Given the description of an element on the screen output the (x, y) to click on. 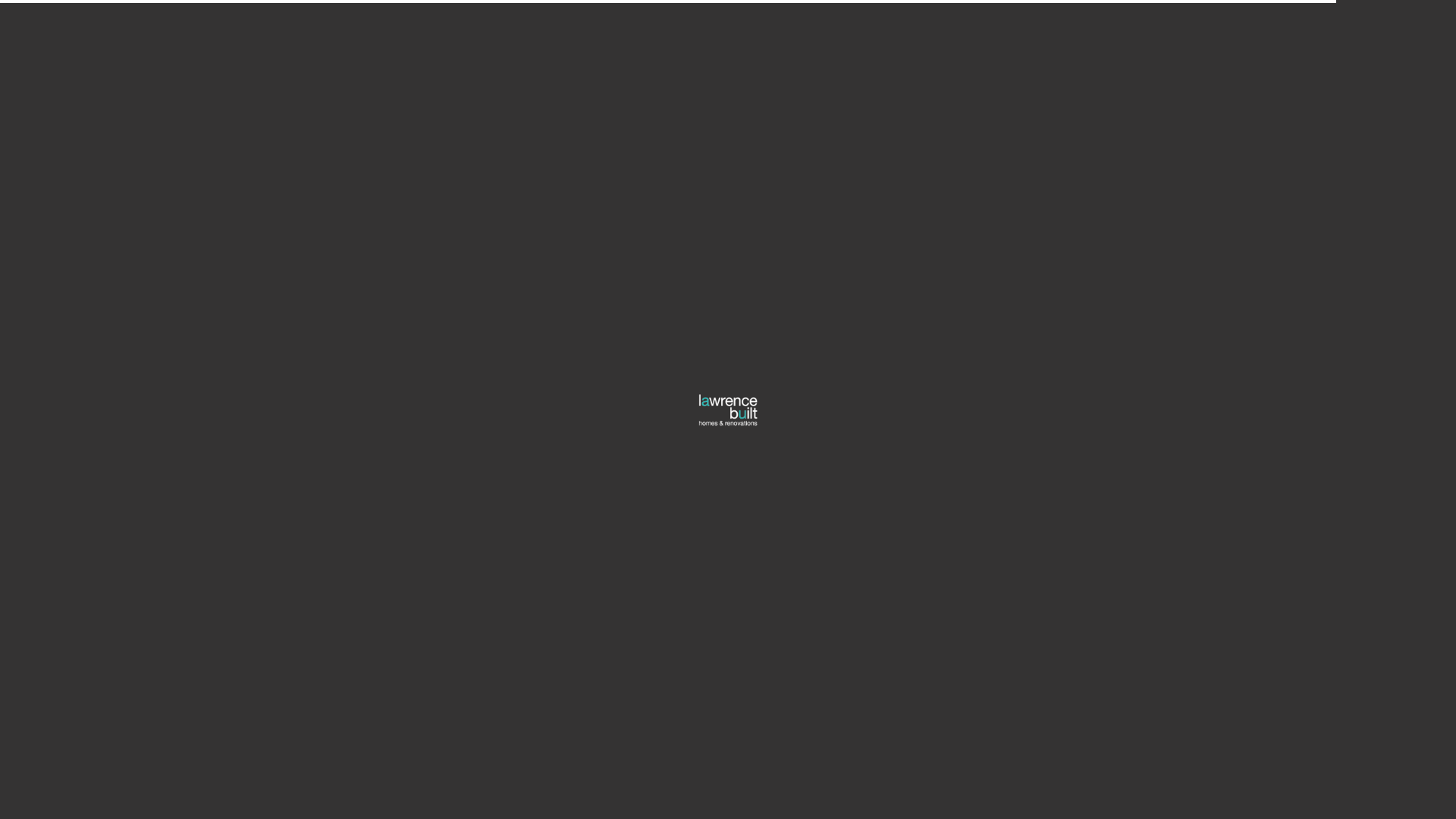
172.69.194.107 Element type: hover (567, 778)
Send Element type: text (650, 555)
Website by Cloud Concepts Element type: text (501, 778)
lawrencebuilt.com.au Element type: text (945, 484)
scott@lawrencebuilt.com.au Element type: text (963, 461)
47 Matthew Flinders Drive, Port Macquarie Element type: text (996, 413)
Facebook Element type: text (914, 509)
0412 044 593 Element type: text (924, 436)
